Given the description of an element on the screen output the (x, y) to click on. 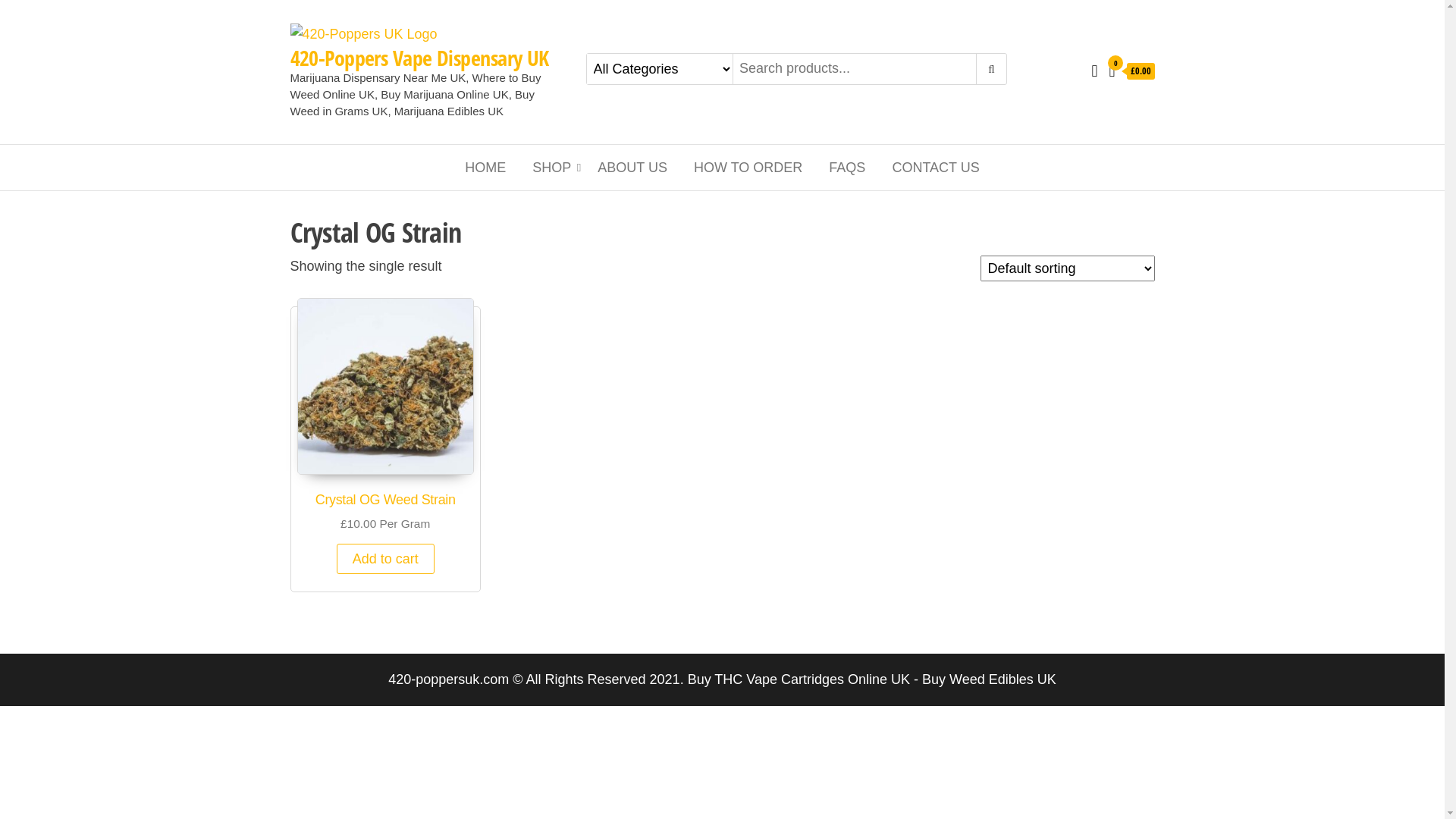
ABOUT US Element type: text (632, 167)
420-Poppers Vape Dispensary UK Element type: text (418, 57)
Add to cart Element type: text (385, 558)
SHOP Element type: text (551, 167)
My Account Element type: hover (1094, 70)
HOME Element type: text (485, 167)
FAQS Element type: text (846, 167)
HOW TO ORDER Element type: text (747, 167)
CONTACT US Element type: text (935, 167)
